Given the description of an element on the screen output the (x, y) to click on. 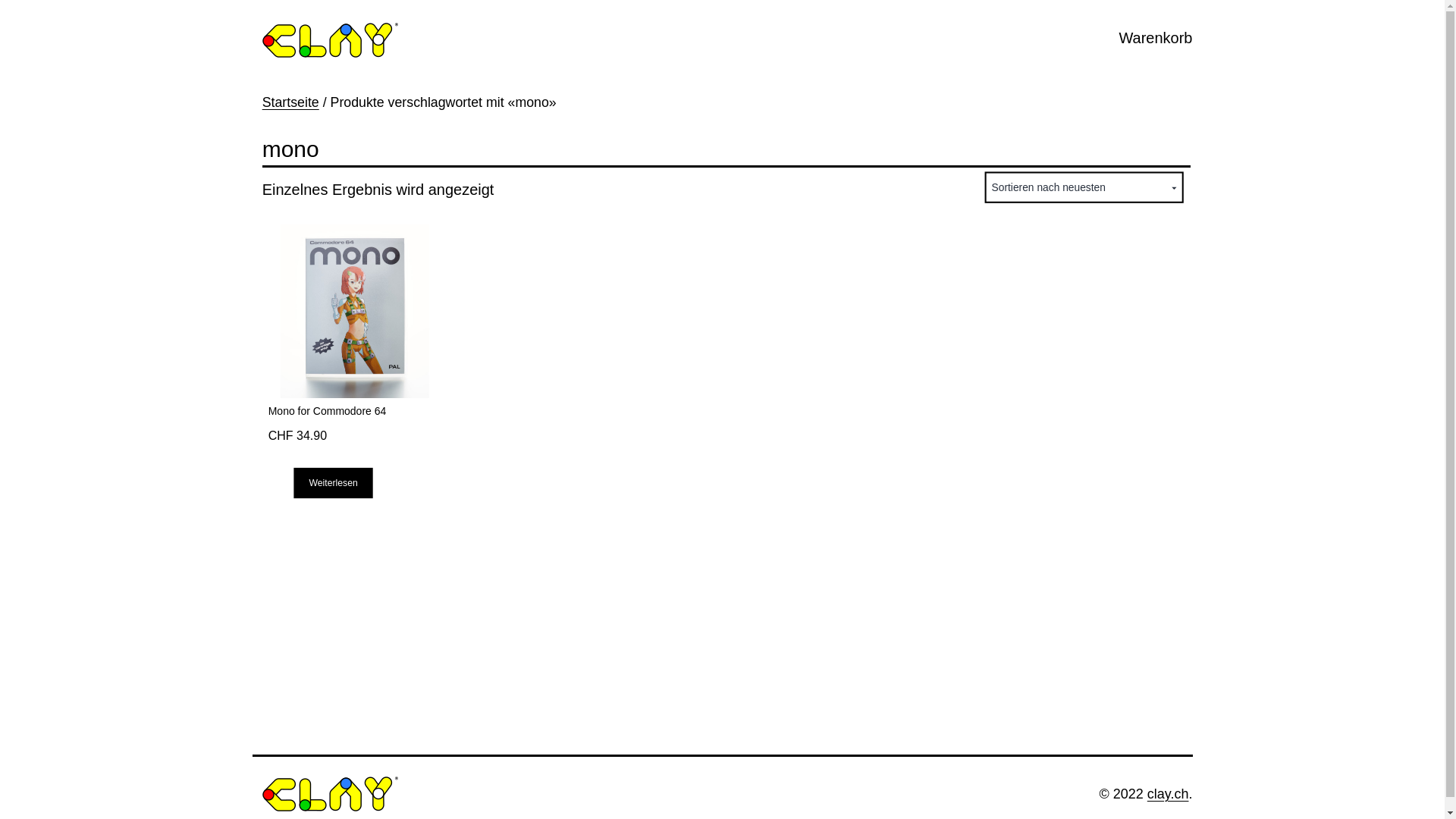
clay.ch Element type: text (1168, 793)
Startseite Element type: text (290, 101)
Weiterlesen Element type: text (358, 492)
Mono for Commodore 64
CHF 34.90 Element type: text (355, 341)
Warenkorb Element type: text (1154, 37)
